Given the description of an element on the screen output the (x, y) to click on. 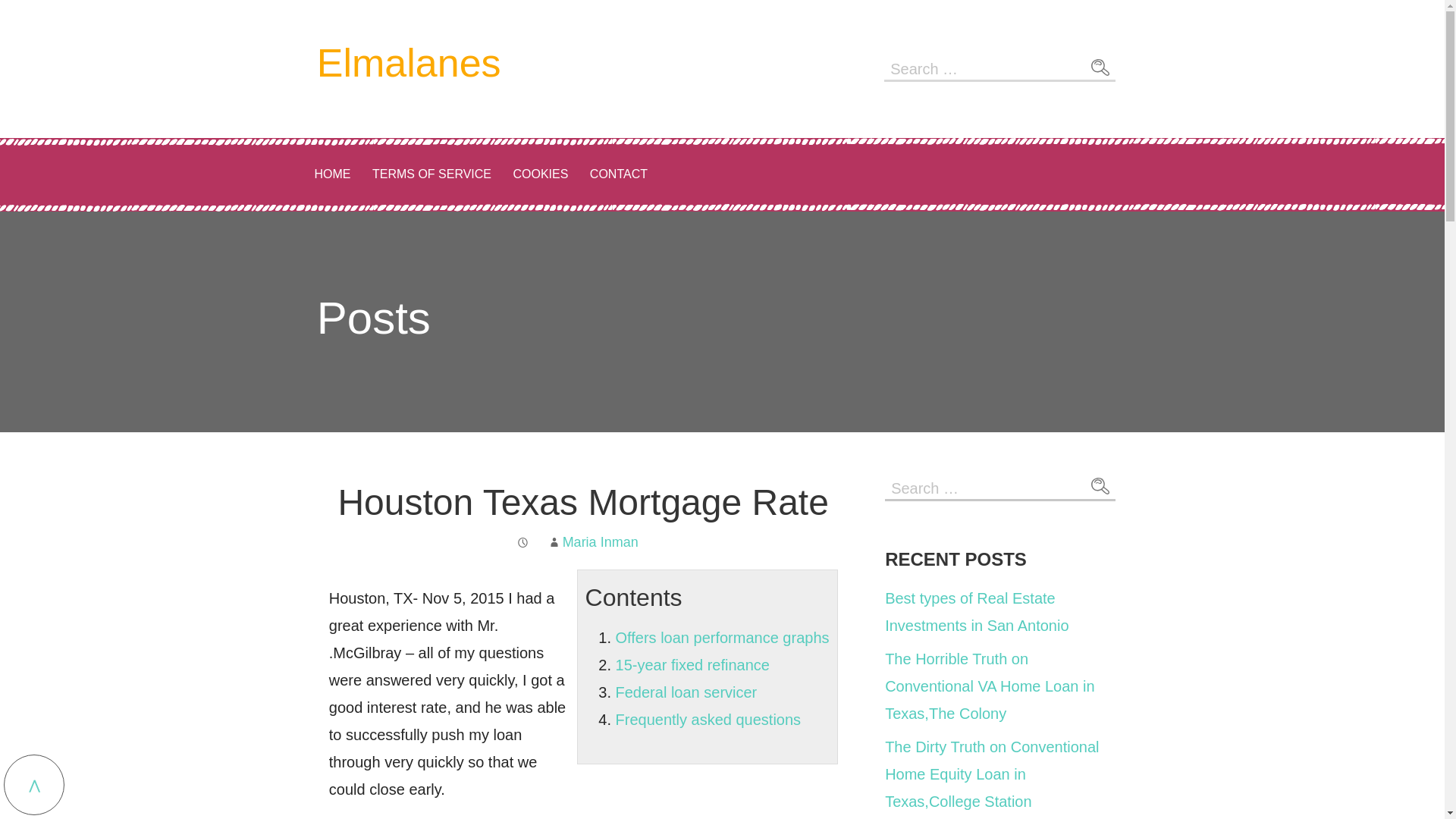
Offers loan performance graphs (722, 637)
Elmalanes (408, 62)
Search (1099, 486)
Federal loan servicer (686, 692)
Search (1099, 67)
Frequently asked questions (708, 719)
15-year fixed refinance (692, 664)
Best types of Real Estate Investments in San Antonio (976, 611)
HOME (331, 174)
Posts by Maria Inman (600, 541)
TERMS OF SERVICE (431, 174)
Search (1099, 67)
COOKIES (539, 174)
